Given the description of an element on the screen output the (x, y) to click on. 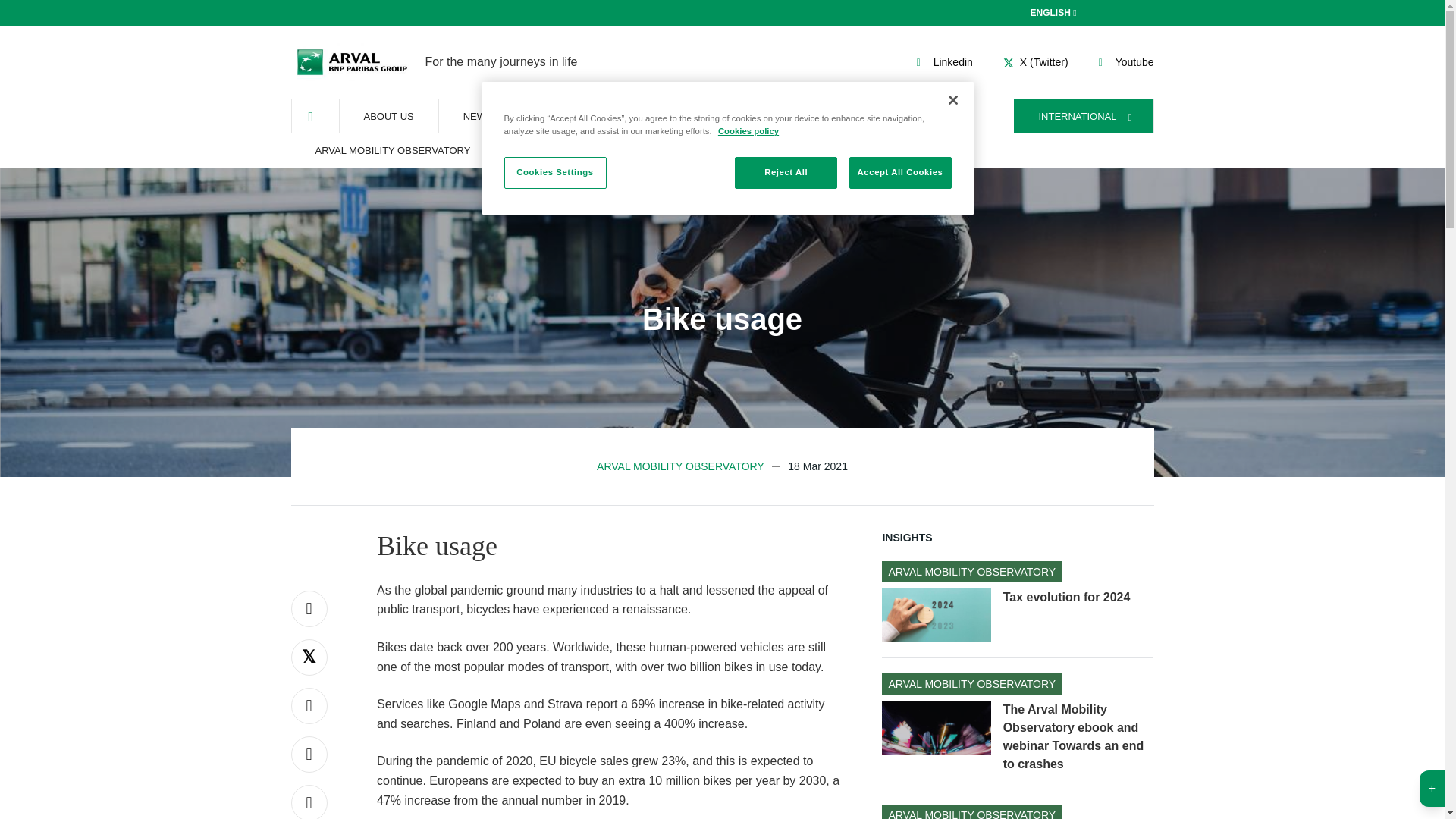
Arval.com (722, 147)
ENGLISH (352, 62)
NEWS (1055, 12)
Youtube (477, 116)
ABOUT US (1123, 62)
Skip to main content (388, 116)
SUSTAINABILITY (941, 62)
